Given the description of an element on the screen output the (x, y) to click on. 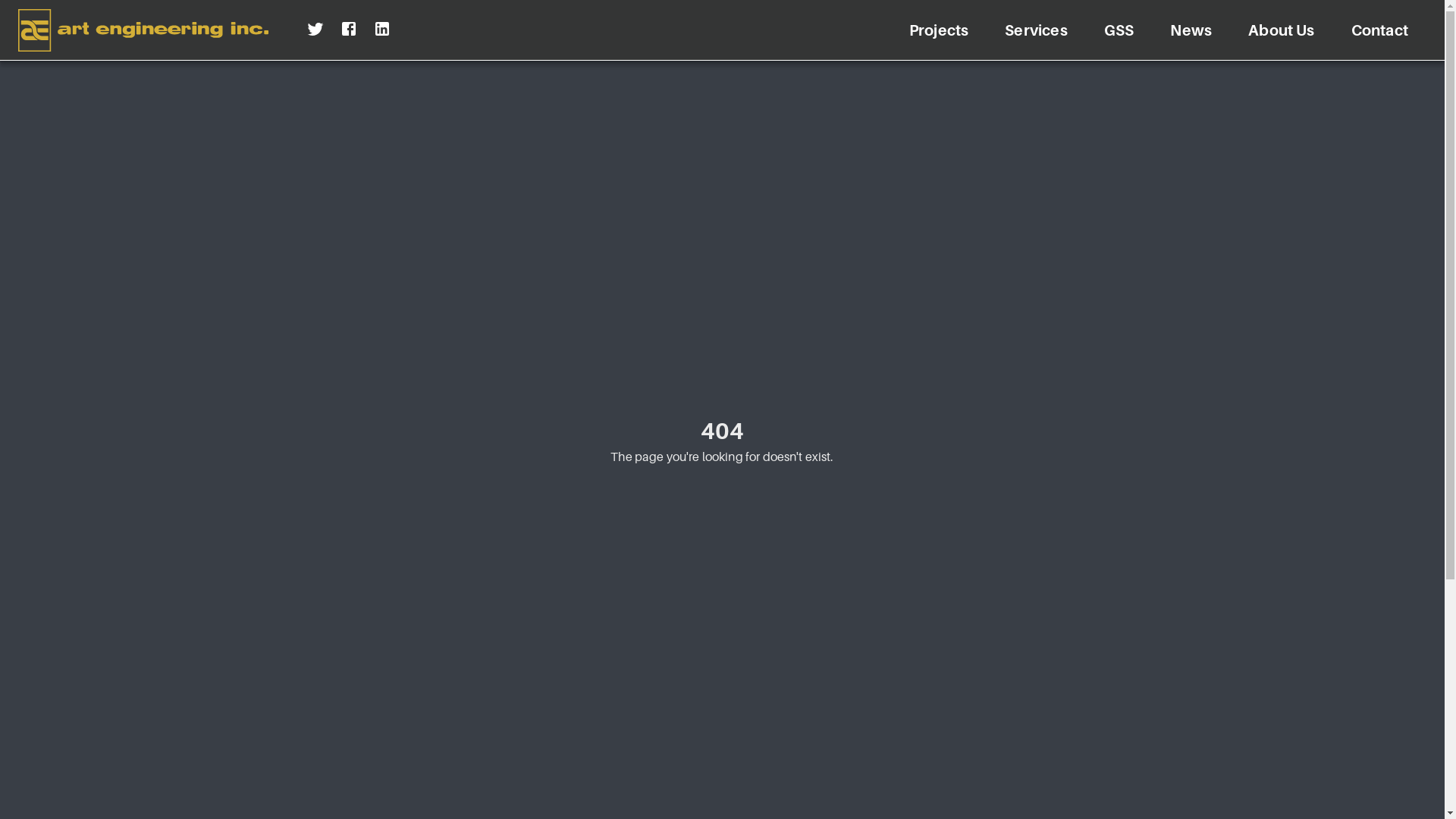
News Element type: text (1190, 29)
GSS Element type: text (1118, 29)
Contact Element type: text (1379, 29)
Projects Element type: text (939, 29)
Services Element type: text (1035, 29)
About Us Element type: text (1281, 29)
